Given the description of an element on the screen output the (x, y) to click on. 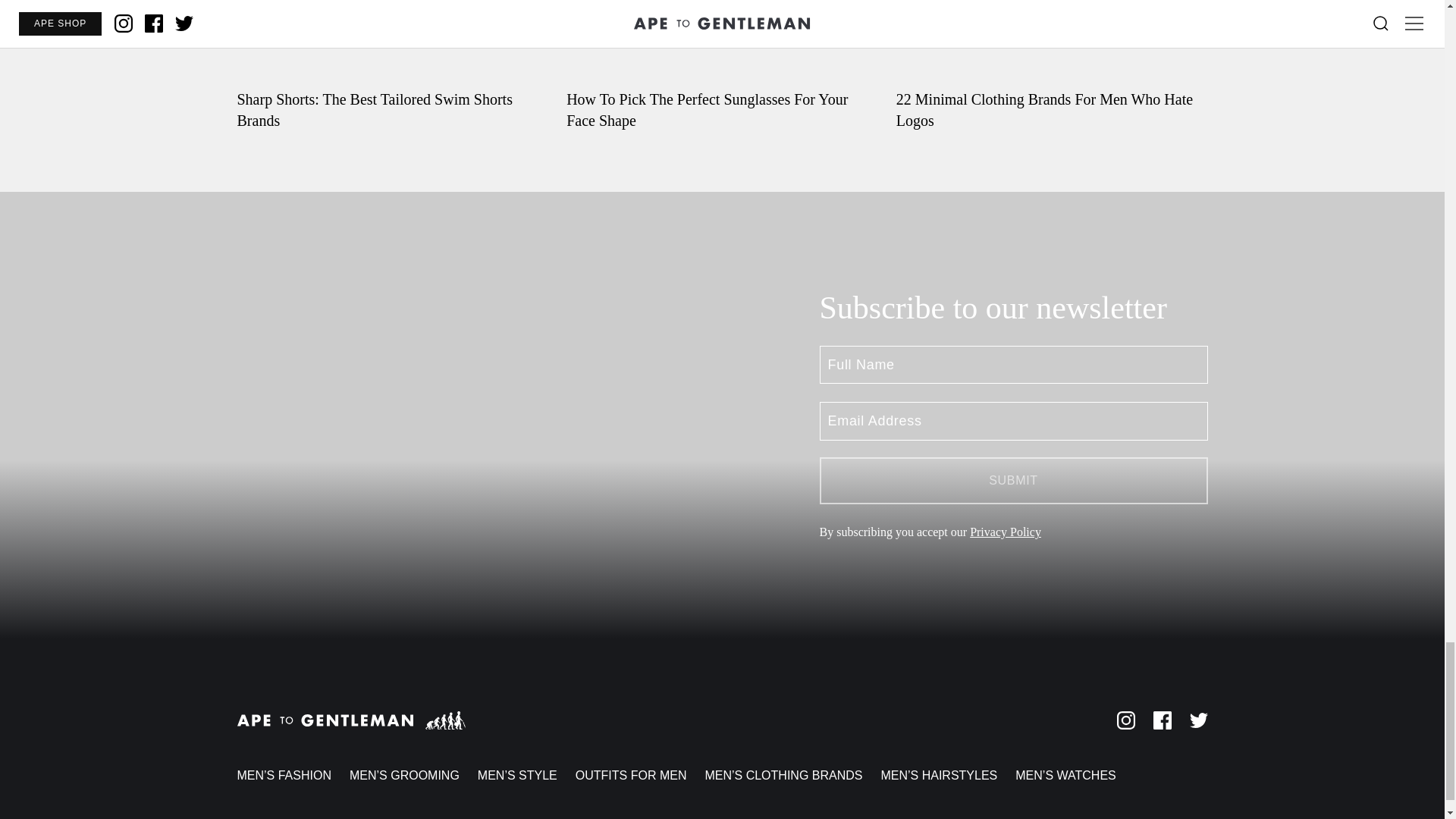
Sharp Shorts: The Best Tailored Swim Shorts Brands (391, 65)
22 Minimal Clothing Brands For Men Who Hate Logos (1052, 65)
How To Pick The Perfect Sunglasses For Your Face Shape (721, 65)
Sharp Shorts: The Best Tailored Swim Shorts Brands (391, 65)
Submit (1012, 480)
